Given the description of an element on the screen output the (x, y) to click on. 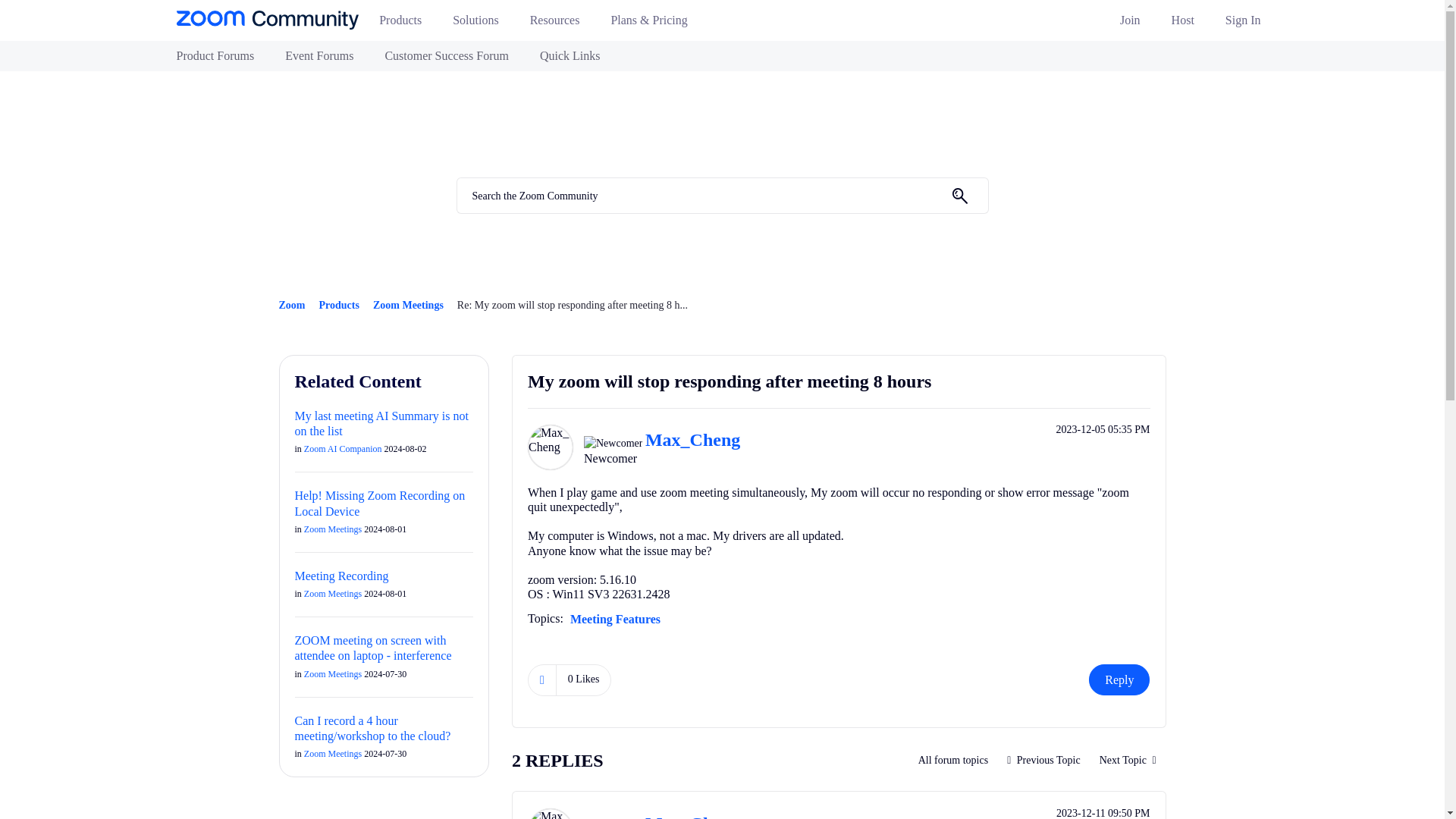
Solutions (481, 23)
Newcomer (612, 442)
Search (959, 195)
Products (406, 23)
Search (722, 195)
Click here to give likes to this post. (542, 679)
Search (959, 195)
Zoom Meetings (953, 760)
Data of Past Meeting (1043, 760)
The total number of likes this post has received. (583, 679)
